Given the description of an element on the screen output the (x, y) to click on. 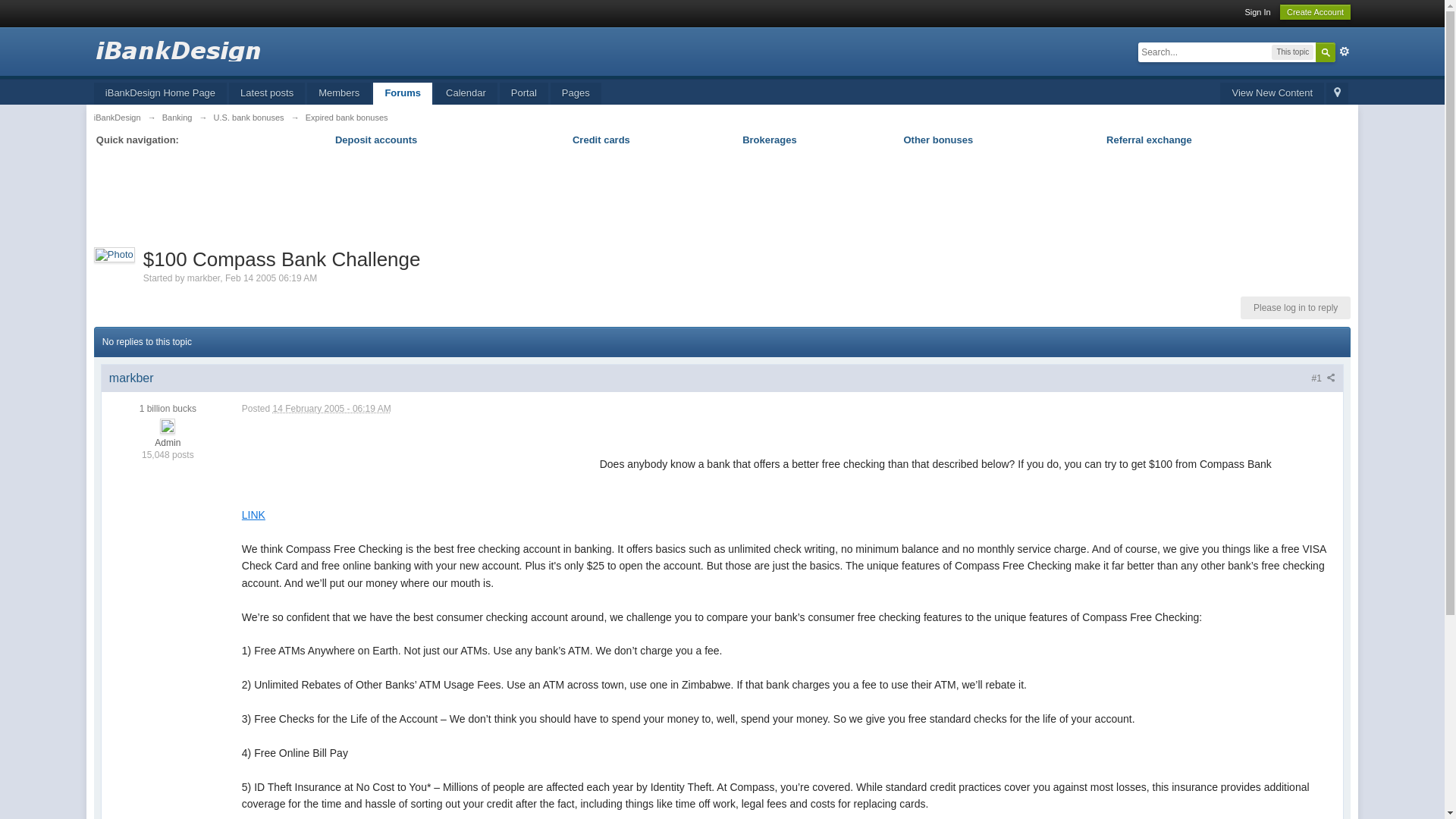
Pages (575, 93)
Portal (523, 93)
iBankDesign (117, 117)
Other bonuses (937, 139)
Sign In (1256, 11)
Members (339, 93)
Expired bank bonuses (346, 117)
View New Content (1271, 93)
Create Account (1315, 11)
Latest posts (266, 93)
U.S. bank bonuses (248, 117)
Calendar (465, 93)
markber (131, 377)
Credit cards (601, 139)
